Given the description of an element on the screen output the (x, y) to click on. 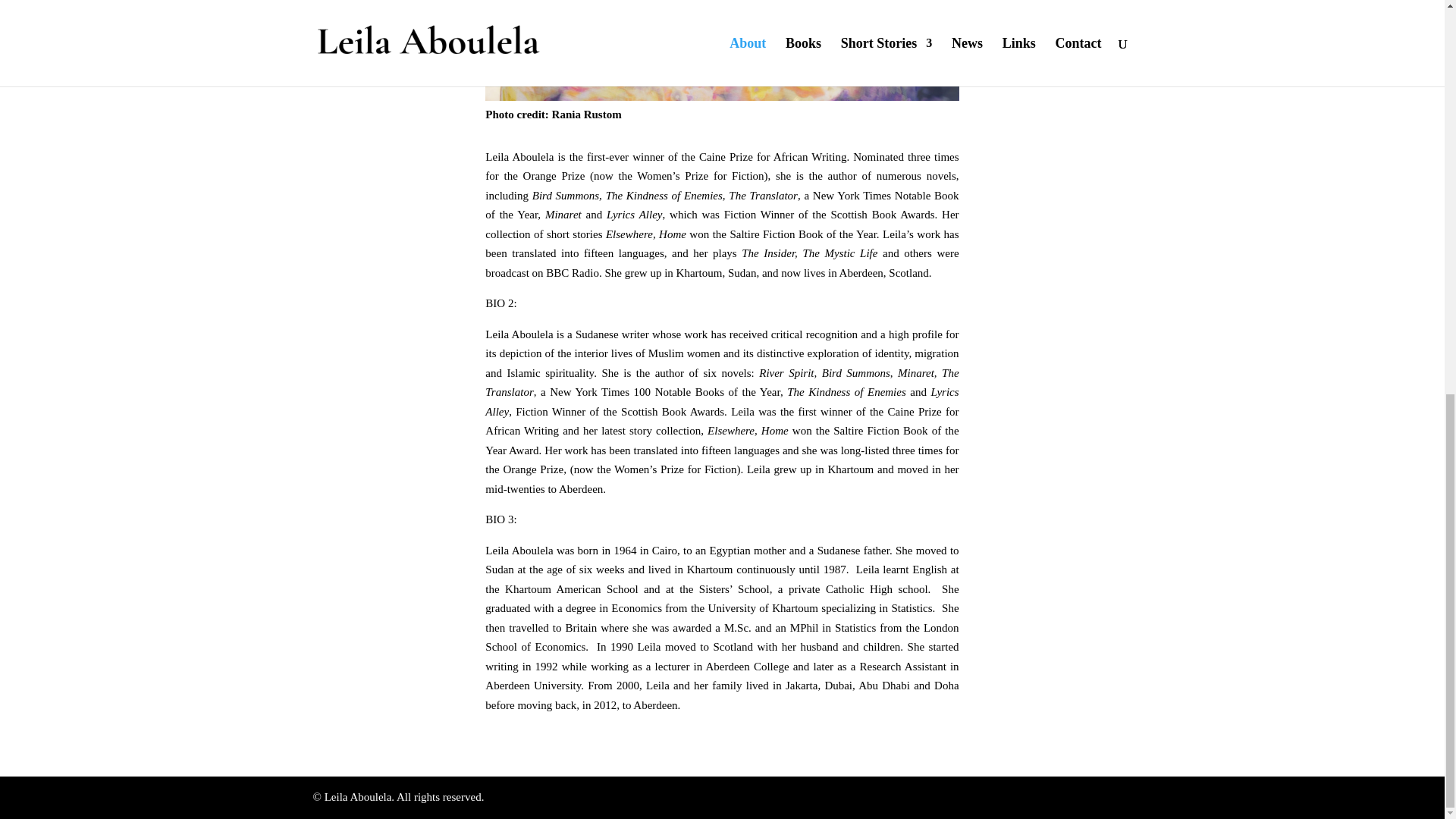
Leila Aboulela 2022 (721, 50)
